Given the description of an element on the screen output the (x, y) to click on. 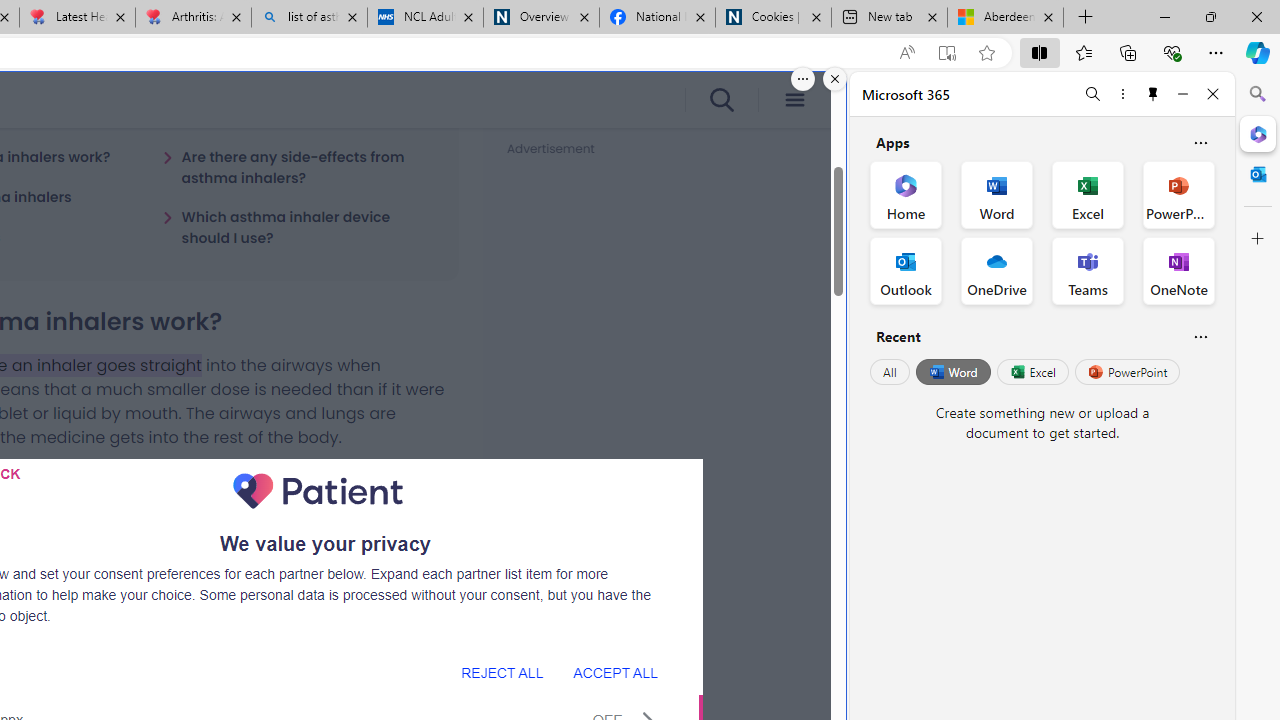
Unpin side pane (1153, 93)
Close Customize pane (1258, 239)
Restore (1210, 16)
Close (1213, 93)
More options. (803, 79)
Add this page to favorites (Ctrl+D) (986, 53)
Settings and more (Alt+F) (1215, 52)
PowerPoint (1127, 372)
Arthritis: Ask Health Professionals (192, 17)
New Tab (1085, 17)
Word (952, 372)
Microsoft 365 (1258, 133)
menu icon (793, 99)
search (720, 99)
